Given the description of an element on the screen output the (x, y) to click on. 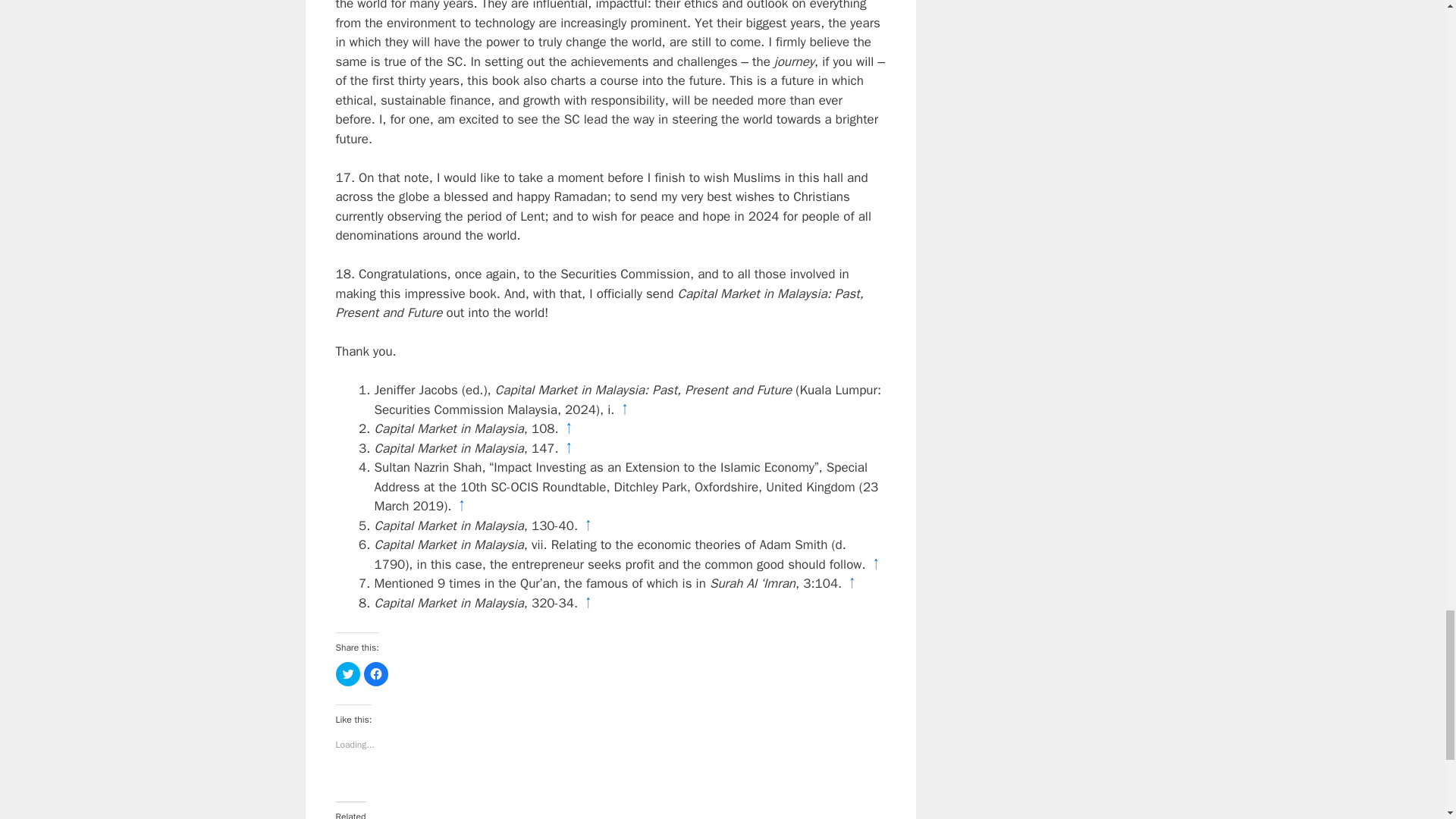
Click to share on Twitter (346, 673)
Click to share on Facebook (376, 673)
